Given the description of an element on the screen output the (x, y) to click on. 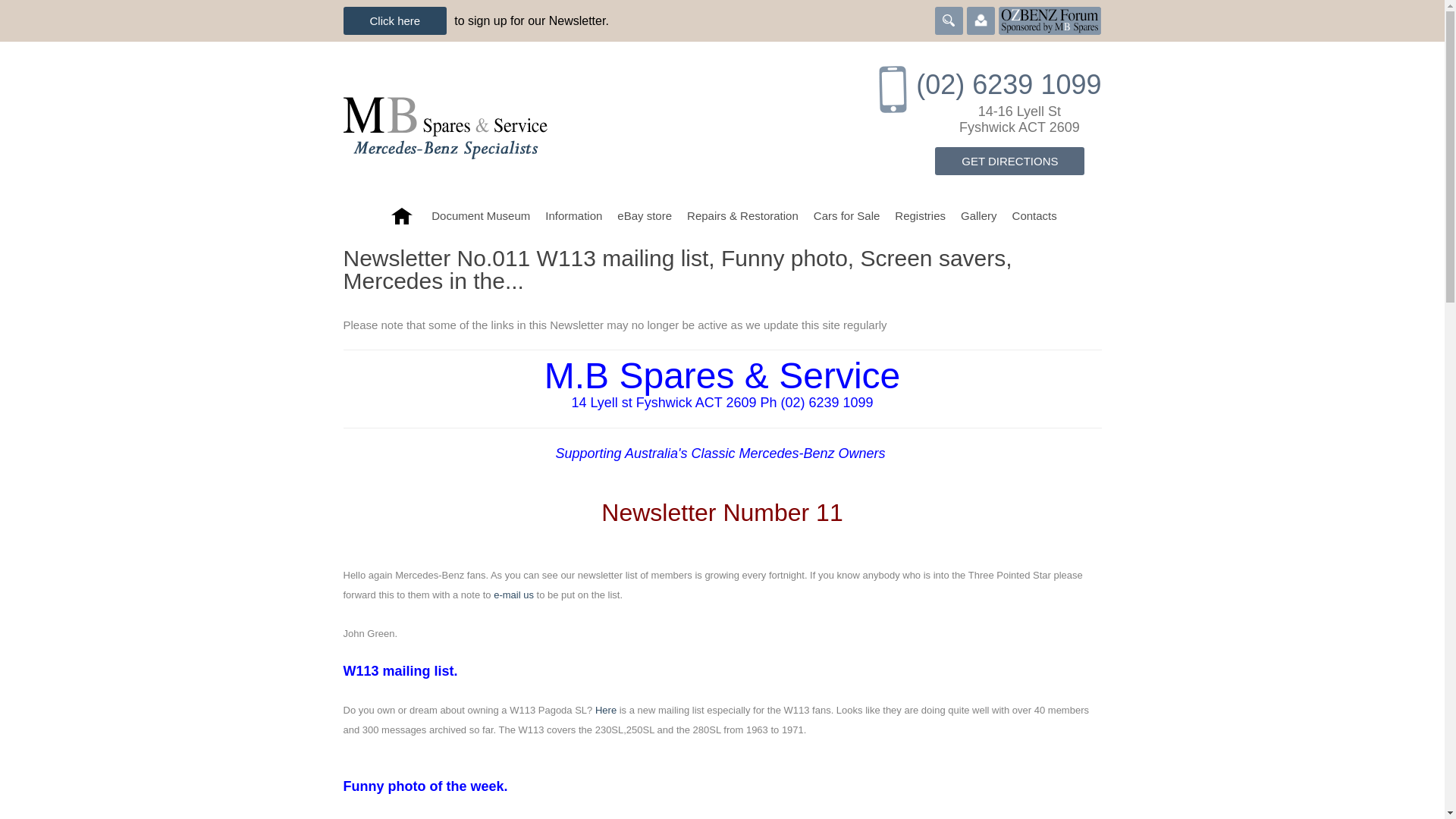
Get Directions (1009, 161)
Information (573, 215)
Contacts (1034, 215)
OZBenz Forum (1049, 19)
Registries (919, 215)
Click here (394, 20)
Click here (394, 20)
Cars for Sale (847, 215)
eBay store (644, 215)
Gallery (978, 215)
Document Museum (480, 215)
GET DIRECTIONS (1009, 161)
